Given the description of an element on the screen output the (x, y) to click on. 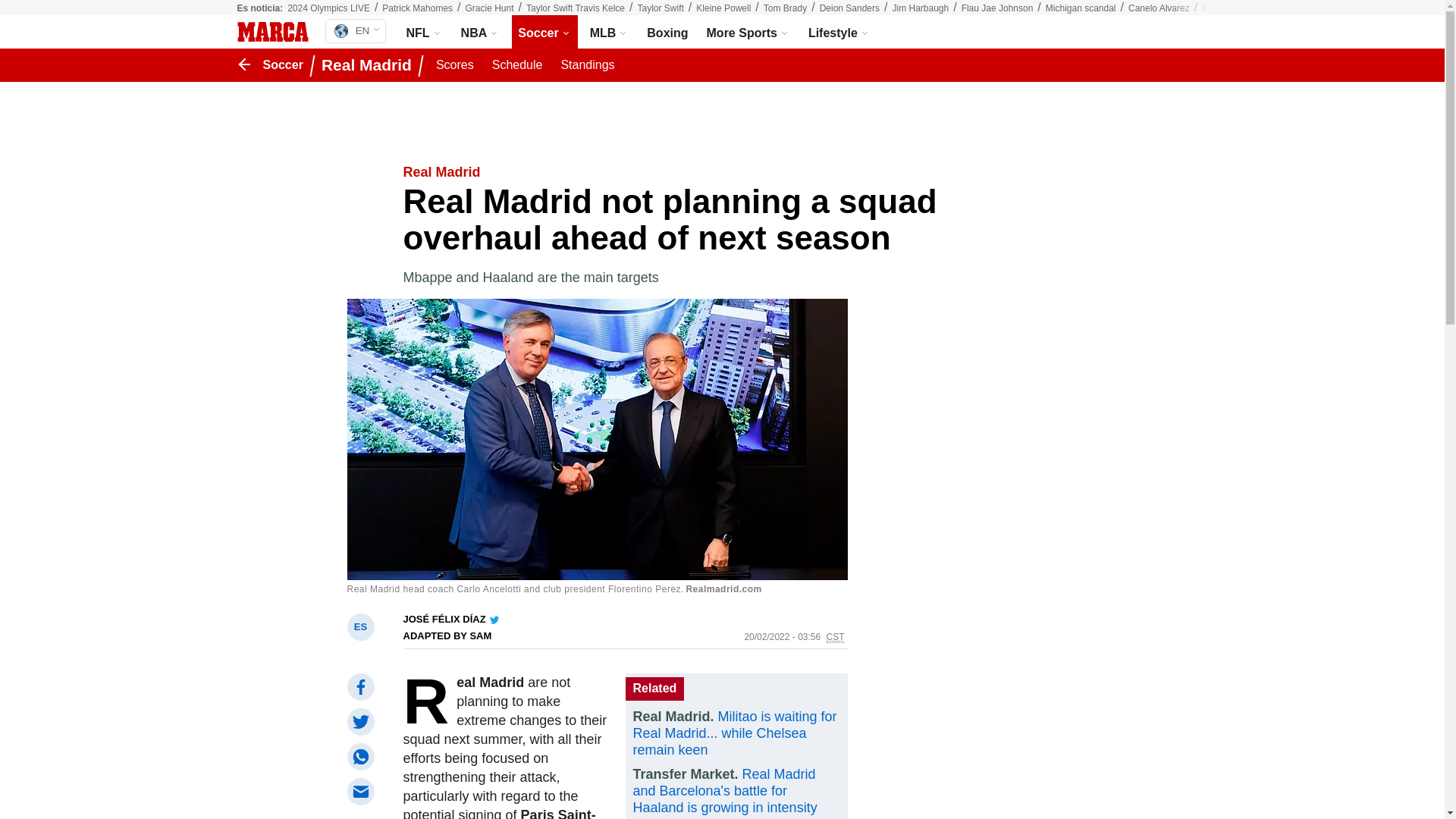
Schedule (517, 64)
Scores (454, 64)
Central Standard Time (835, 636)
Lifestyle (839, 31)
NFL (424, 31)
Portada de Marca (271, 31)
Taylor Swift (659, 8)
Soccer (544, 31)
NBA (480, 31)
Standings (587, 64)
